Given the description of an element on the screen output the (x, y) to click on. 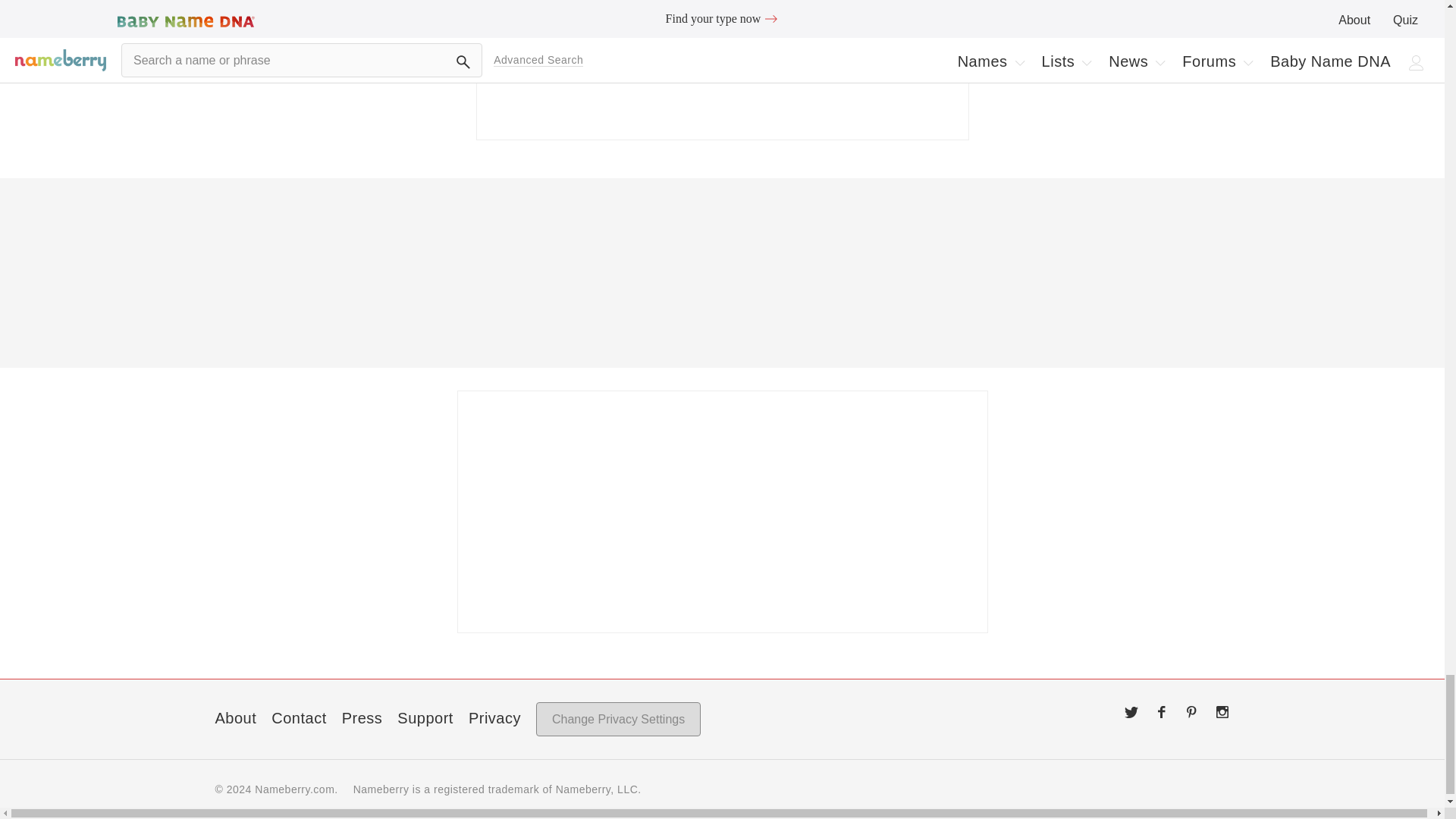
Sign up for the Nameberry Newsletter (722, 511)
Facebook (1161, 711)
Pinterest (1192, 711)
Sign up for the Nameberry Newsletter (722, 70)
Twitter (1131, 711)
Instagram (1222, 711)
